Given the description of an element on the screen output the (x, y) to click on. 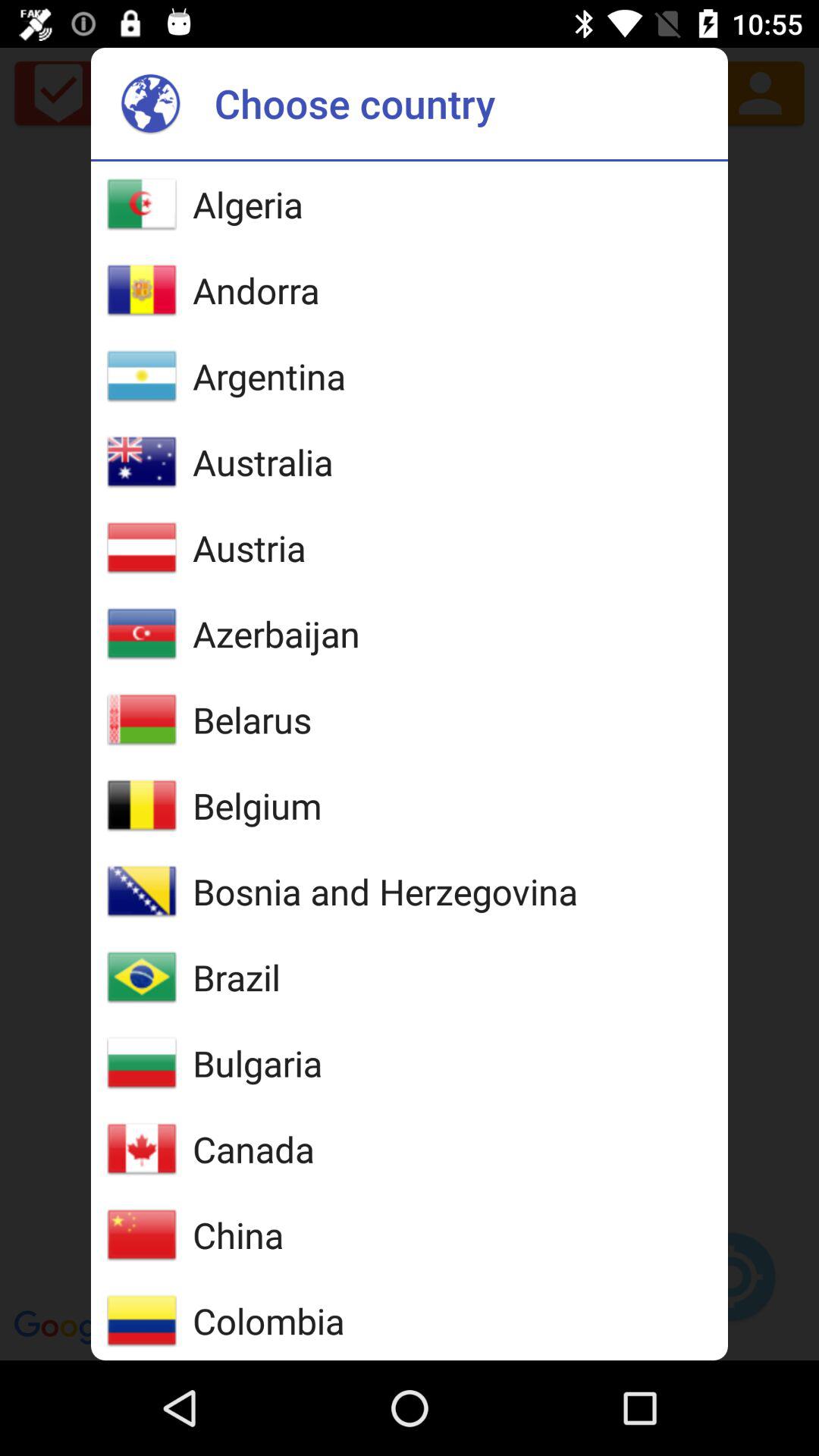
press icon next to the choose country app (150, 103)
